Given the description of an element on the screen output the (x, y) to click on. 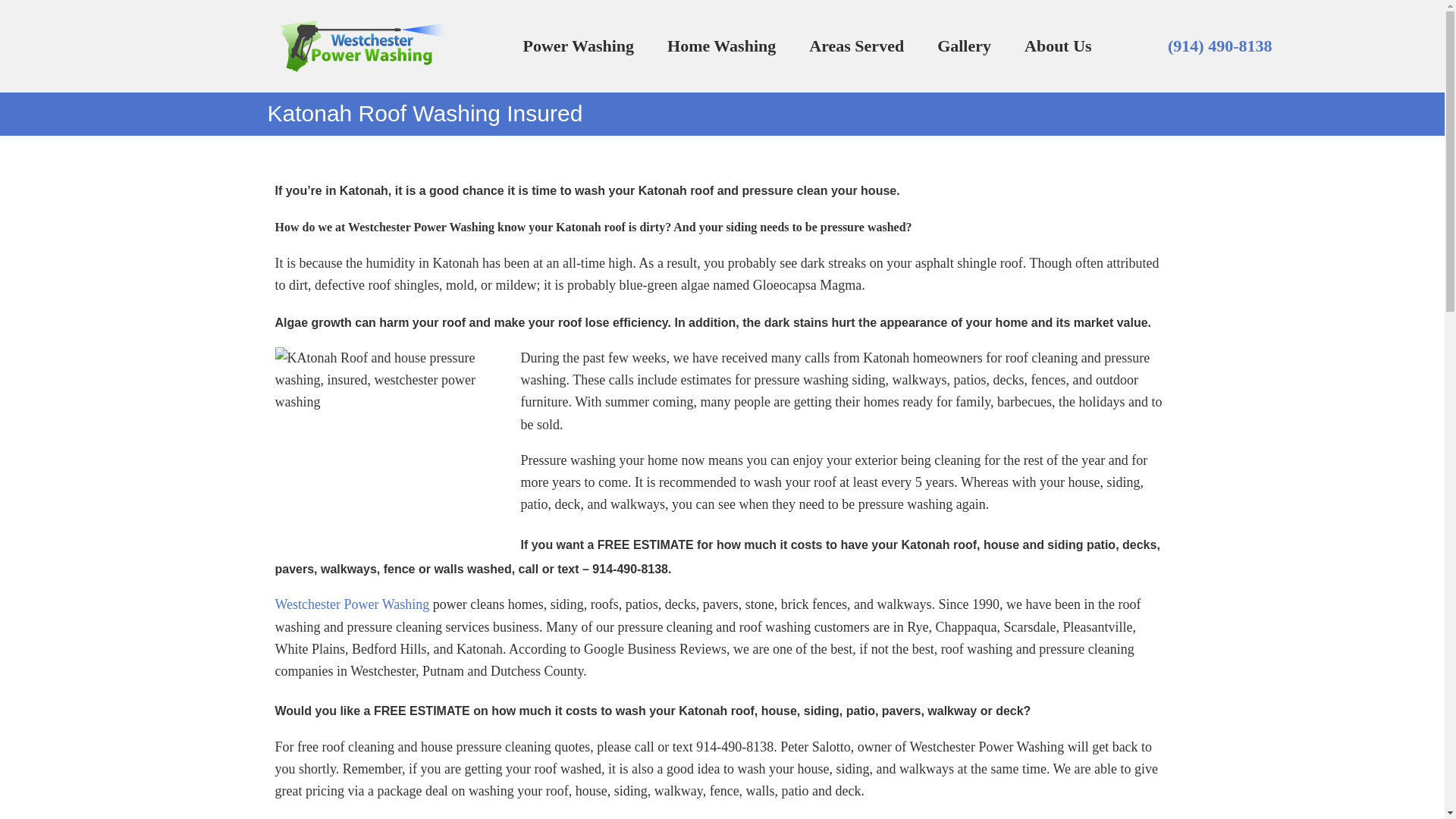
Areas Served (855, 46)
Westchester Power Washing (352, 604)
Gallery (963, 46)
Home Washing (721, 46)
Katonah Roof Washing Insured (388, 432)
Power Washing (578, 46)
About Us (1057, 46)
